Given the description of an element on the screen output the (x, y) to click on. 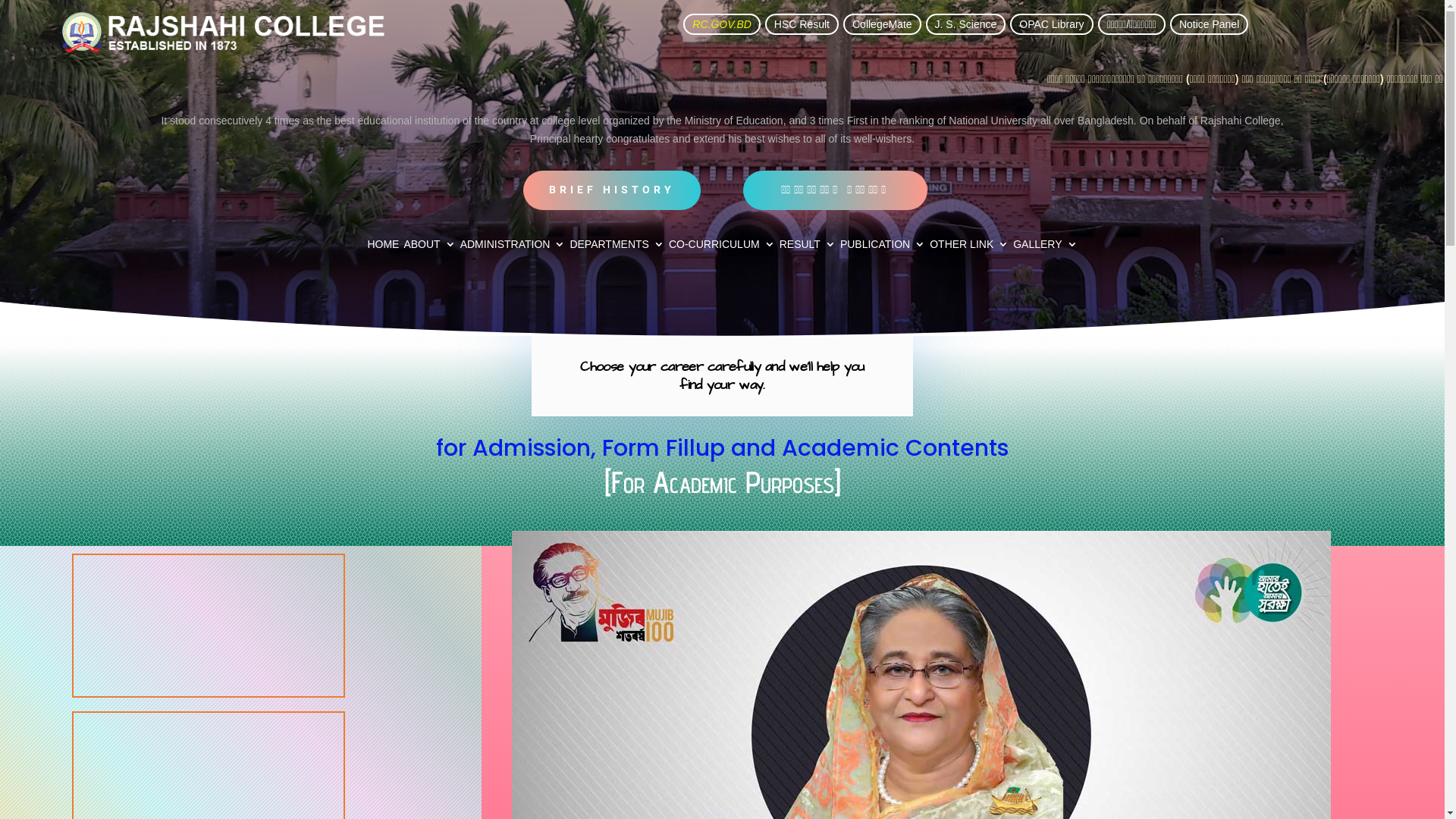
CollegeMate Element type: text (882, 23)
DEPARTMENTS Element type: text (616, 246)
RC.GOV.BD Element type: text (721, 23)
logo Element type: hover (223, 32)
J. S. Science Element type: text (965, 23)
CO-CURRICULUM Element type: text (721, 246)
YouTube video player Element type: hover (208, 625)
RESULT Element type: text (807, 246)
BRIEF HISTORY Element type: text (611, 190)
HOME Element type: text (382, 246)
OPAC Library Element type: text (1051, 23)
Notice Panel Element type: text (1209, 23)
GALLERY Element type: text (1044, 246)
HSC Result Element type: text (801, 23)
ADMINISTRATION Element type: text (512, 246)
OTHER LINK Element type: text (968, 246)
ABOUT Element type: text (429, 246)
PUBLICATION Element type: text (882, 246)
